Given the description of an element on the screen output the (x, y) to click on. 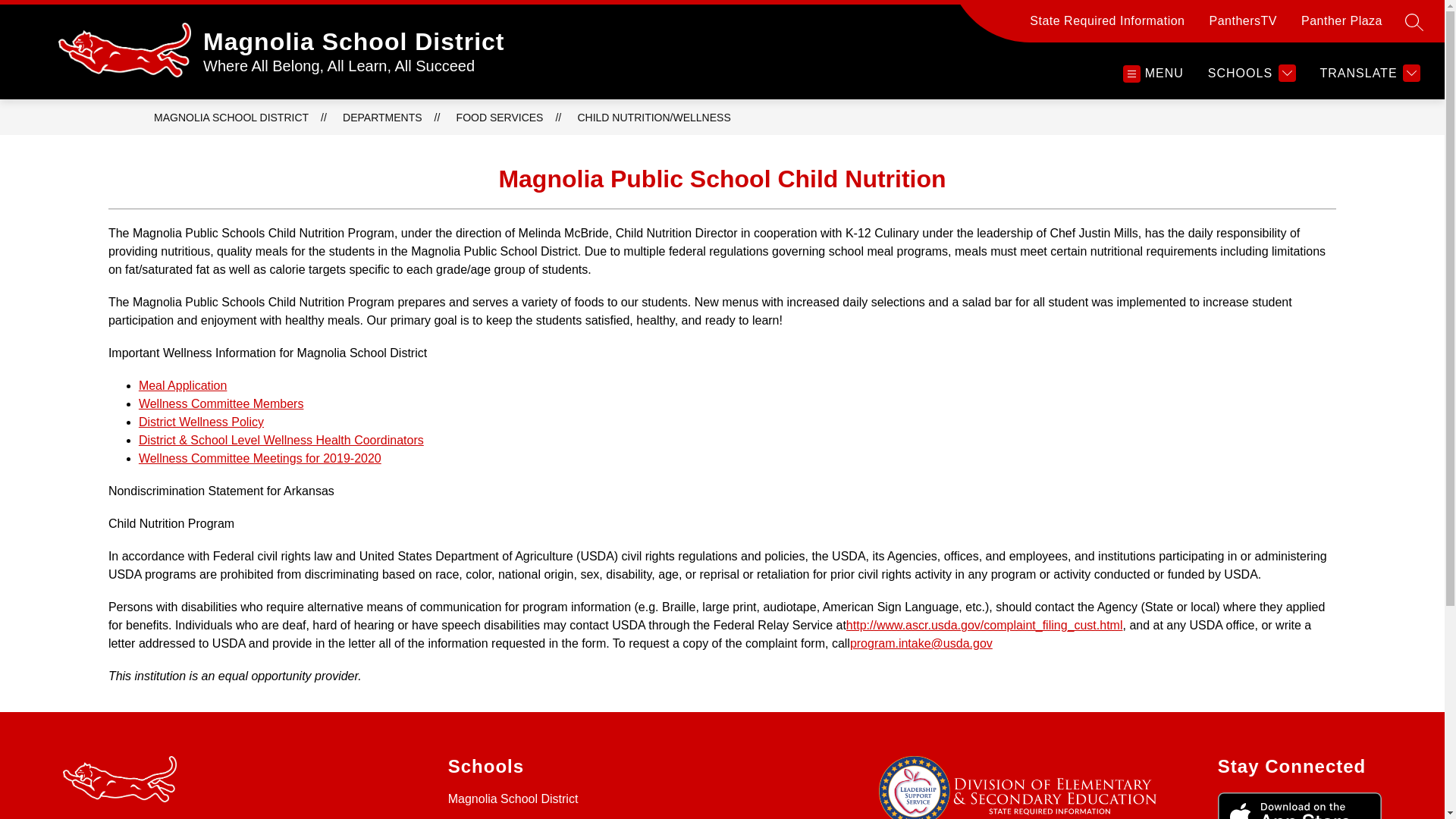
TRANSLATE (1370, 72)
SCHOOLS (1251, 72)
MENU (1152, 72)
Wellness Committee Meetings for 2019-2020 (259, 458)
Wellness Committee Members (221, 403)
Meal Application (182, 385)
Magnolia School District (513, 798)
State Required Information (1107, 27)
MAGNOLIA SCHOOL DISTRICT (231, 117)
District Wellness Policy (200, 421)
